Given the description of an element on the screen output the (x, y) to click on. 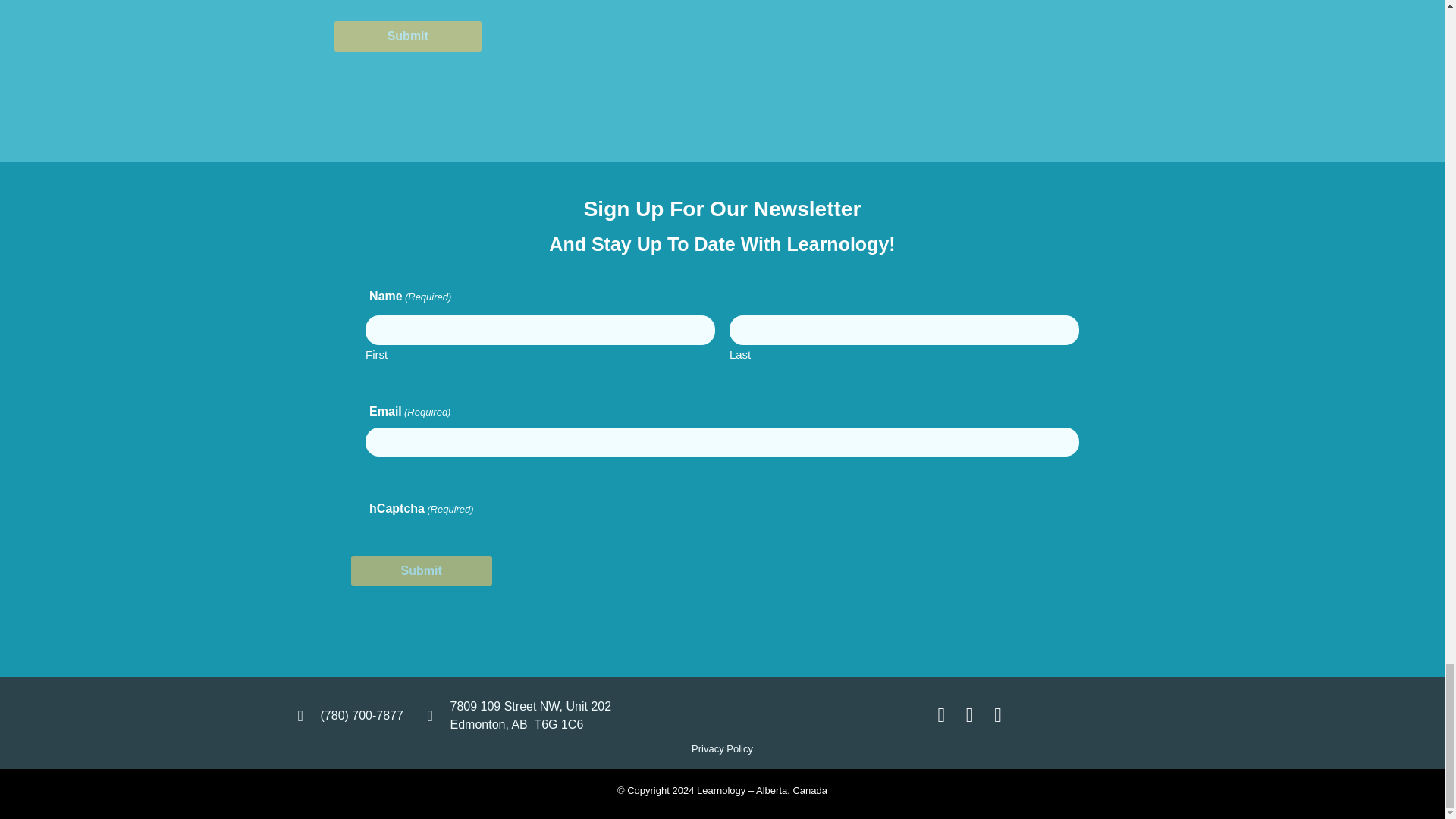
Submit (421, 571)
LearnologyLettermarkBlue (723, 714)
Submit (407, 36)
